Given the description of an element on the screen output the (x, y) to click on. 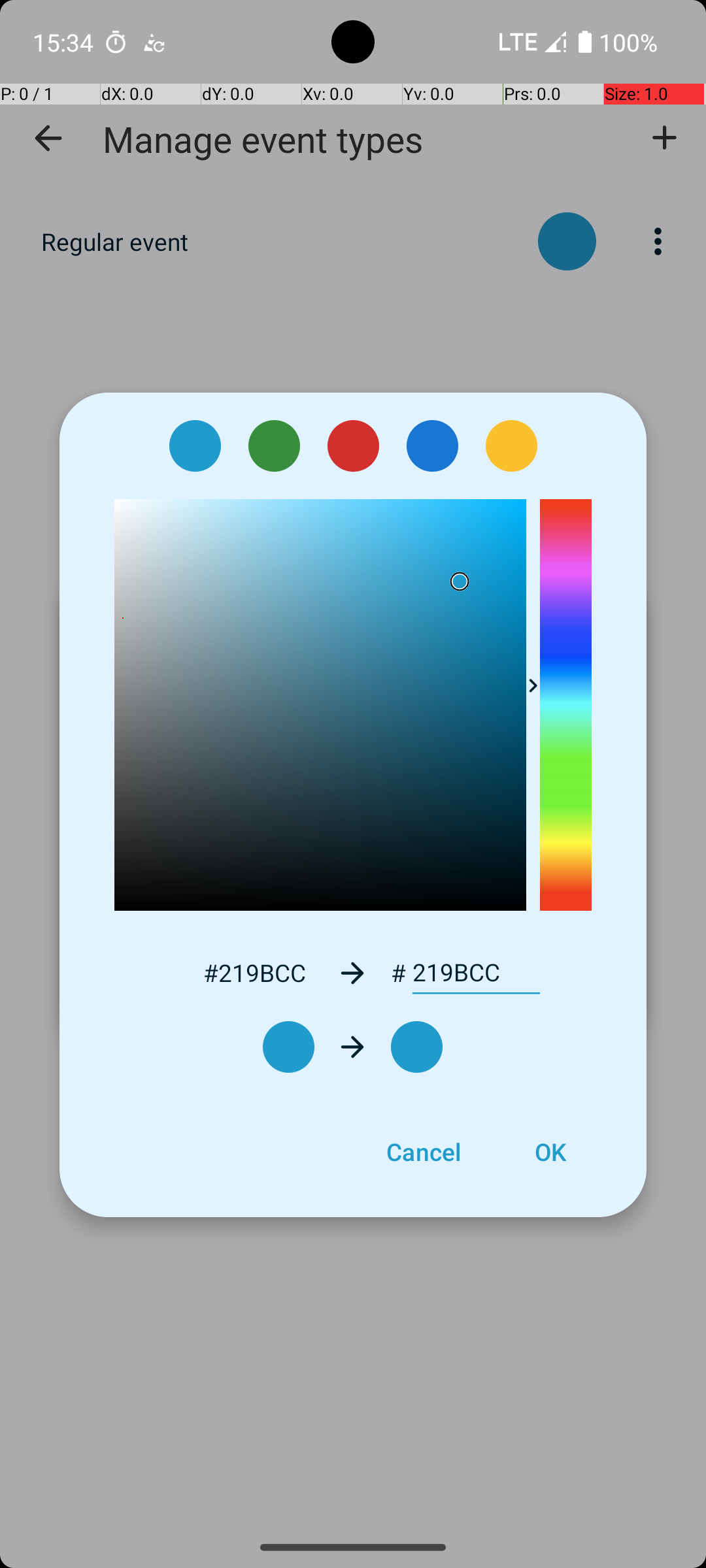
#219BCC Element type: android.widget.TextView (254, 972)
219BCC Element type: android.widget.EditText (475, 972)
